Given the description of an element on the screen output the (x, y) to click on. 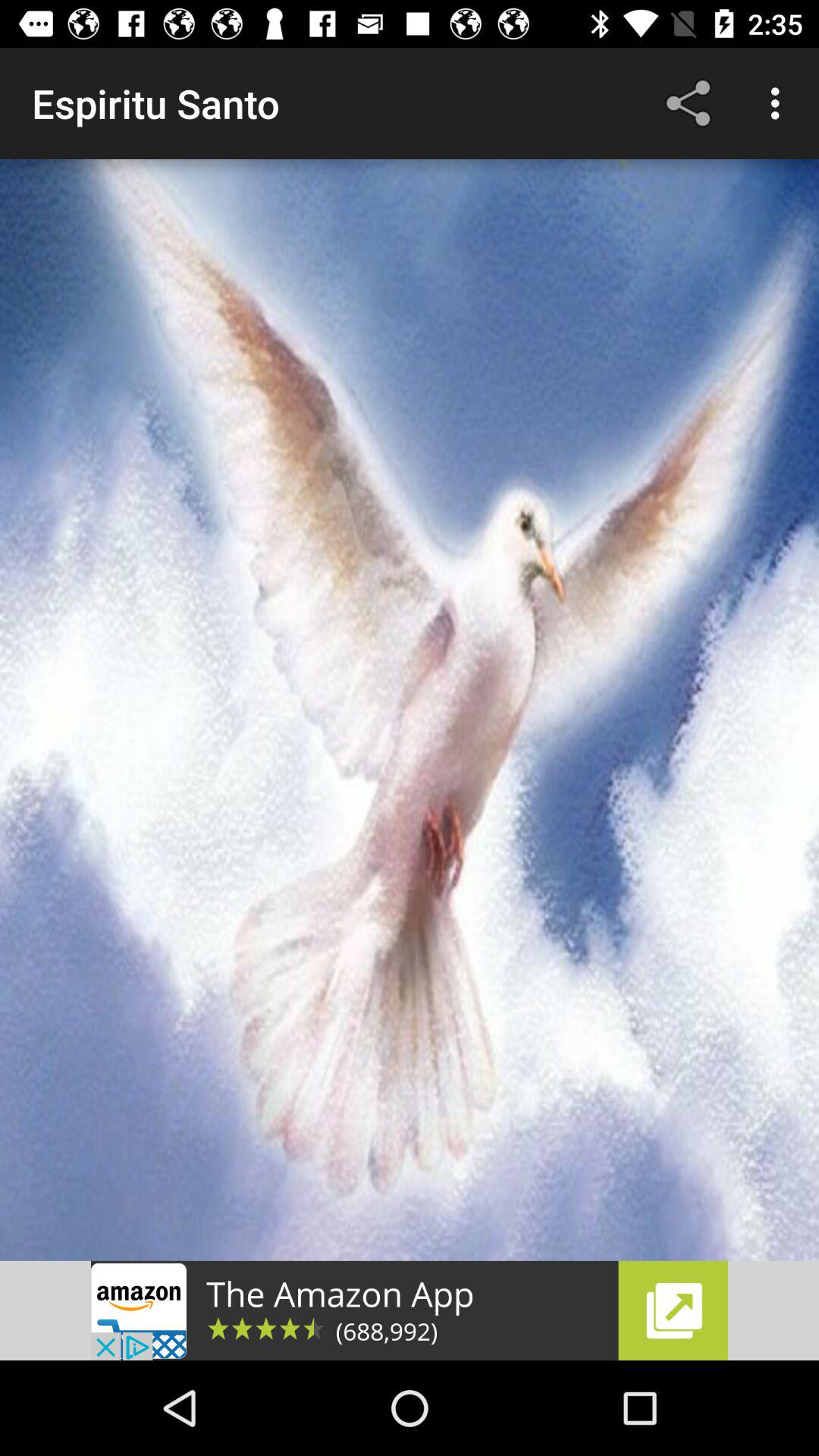
open the advertisement link (409, 1310)
